Given the description of an element on the screen output the (x, y) to click on. 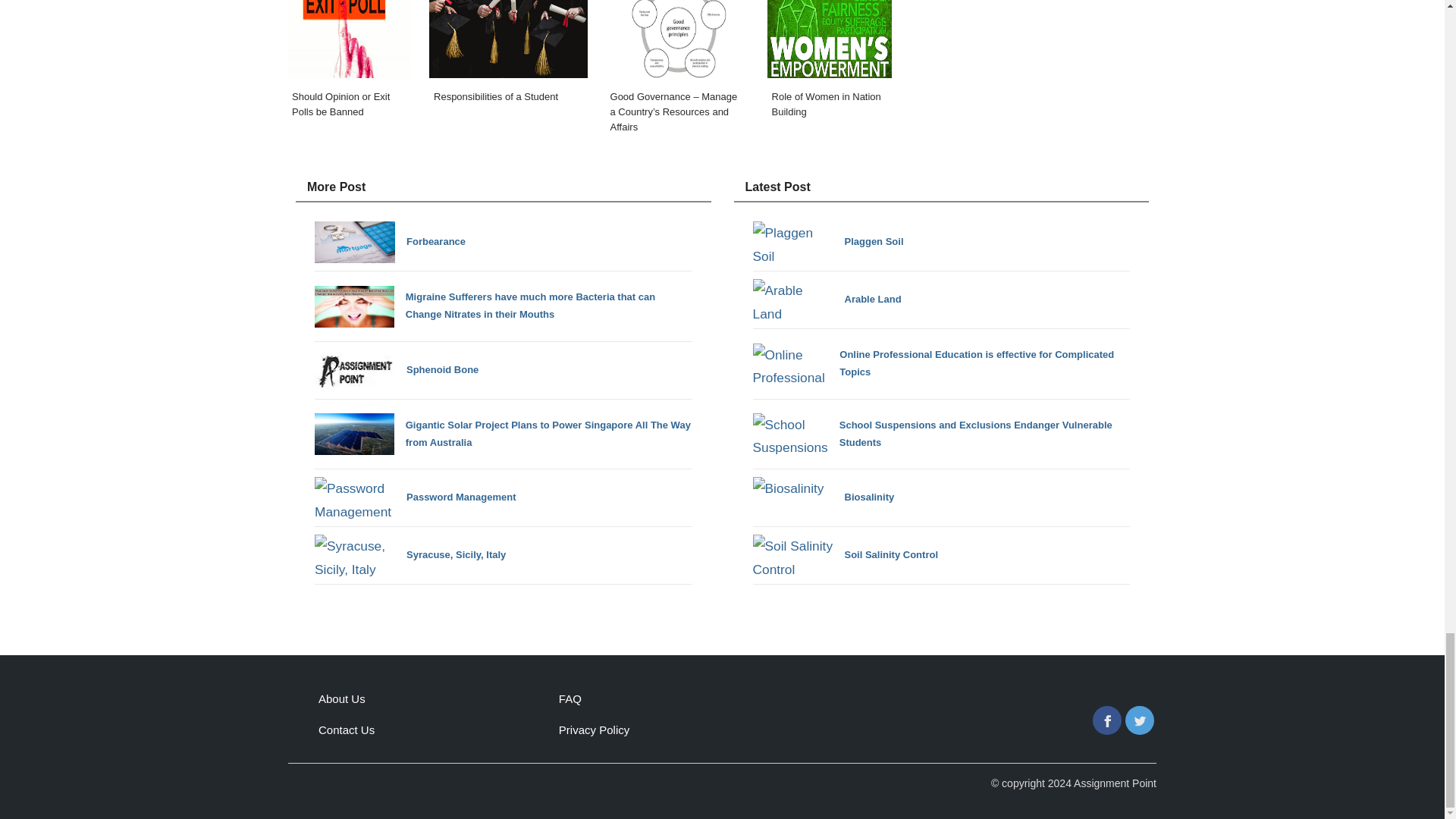
Biosalinity (822, 497)
Contact Us (346, 729)
Responsibilities of a Student (508, 71)
Should Opinion or Exit Polls be Banned (348, 71)
Plaggen Soil (827, 241)
Arable Land (826, 300)
Sphenoid Bone (396, 370)
About Us (341, 698)
Soil Salinity Control (844, 555)
Password Management (415, 497)
Forbearance (389, 241)
